Given the description of an element on the screen output the (x, y) to click on. 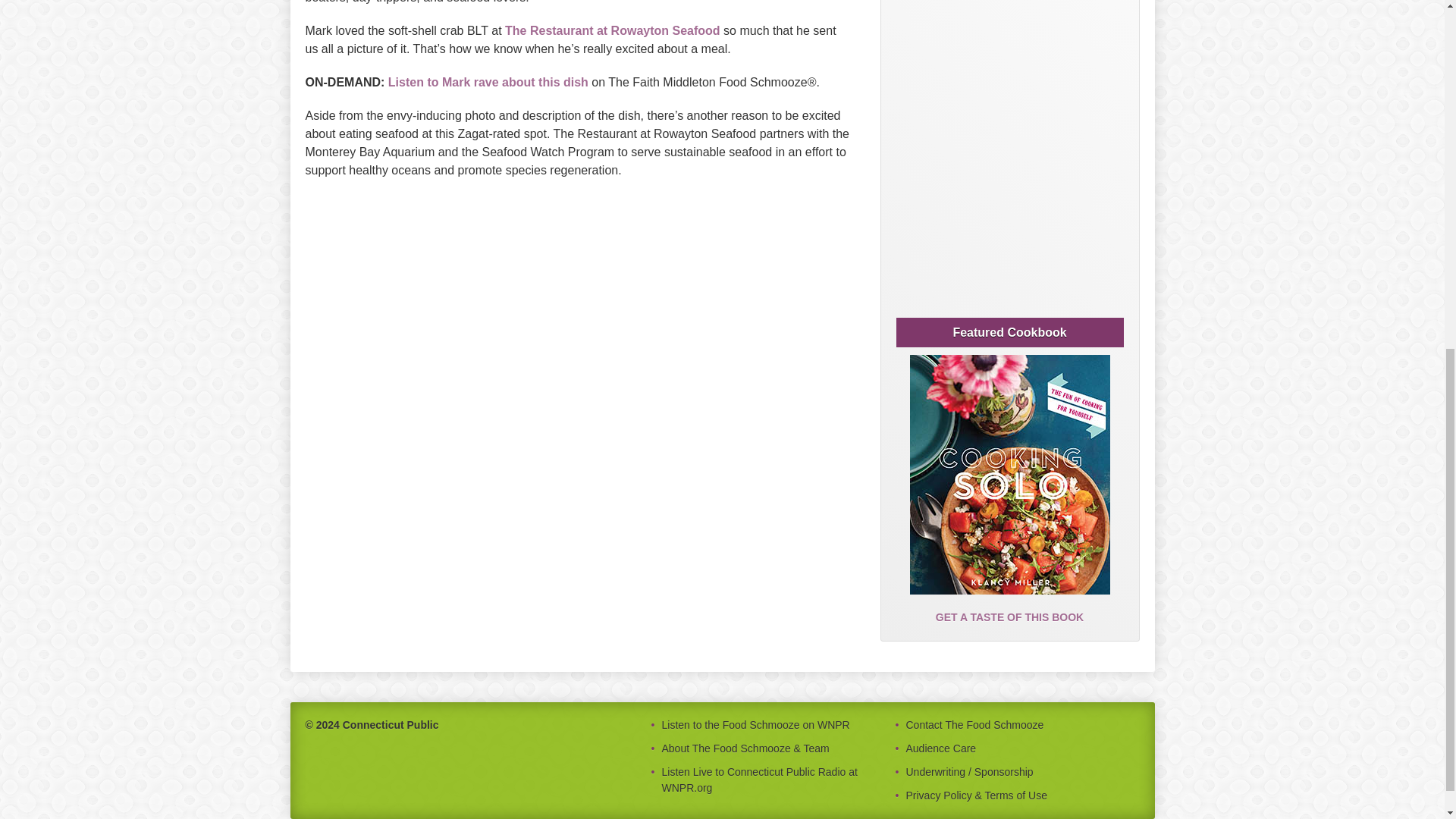
The Restaurant at Rowayton Seafood (612, 30)
Listen to Mark rave about this dish (488, 82)
